Given the description of an element on the screen output the (x, y) to click on. 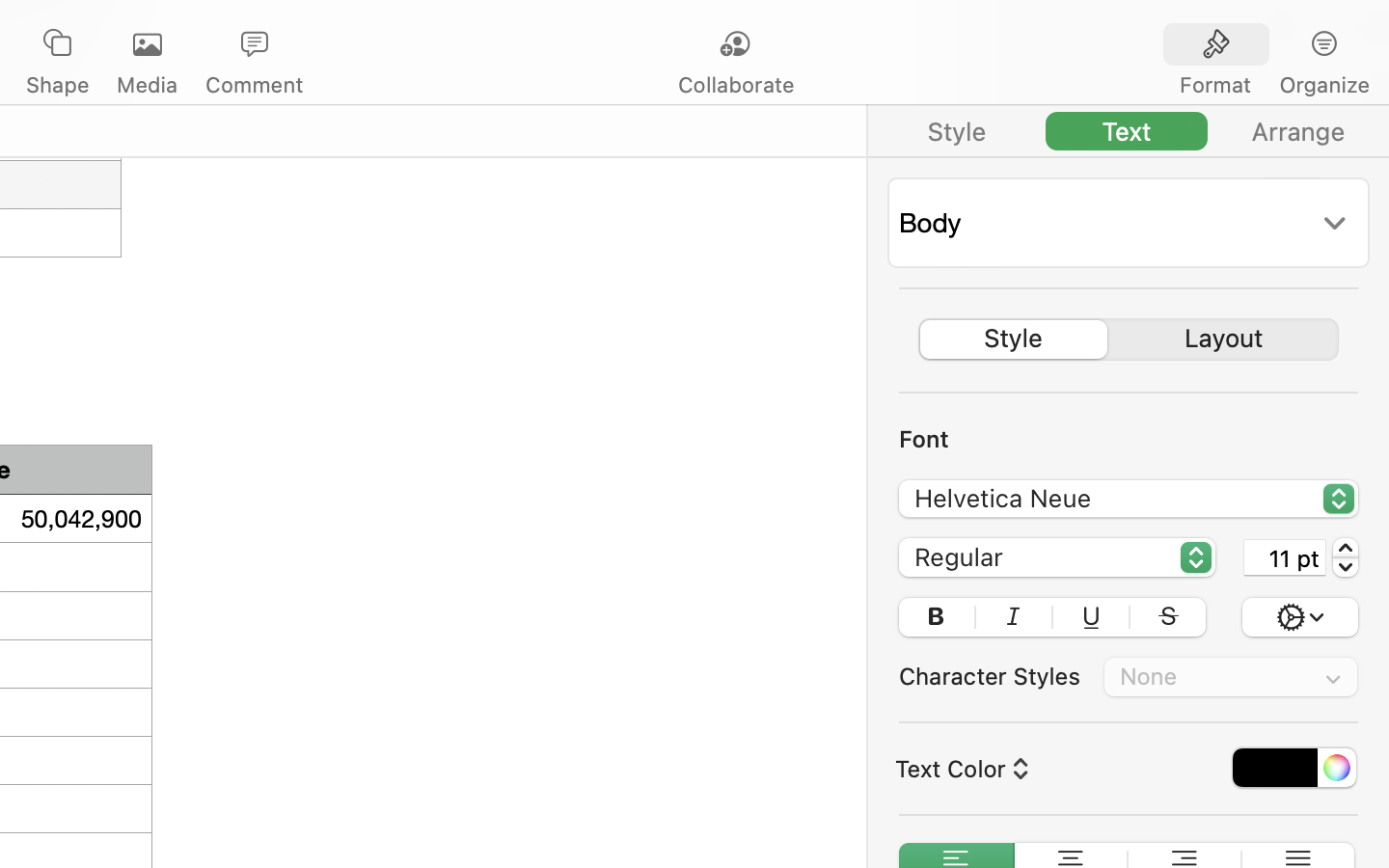
Text Color Element type: AXPopUpButton (959, 768)
11.0 Element type: AXIncrementor (1345, 557)
<AXUIElement 0x10fda3fc0> {pid=1420} Element type: AXGroup (1270, 45)
